Given the description of an element on the screen output the (x, y) to click on. 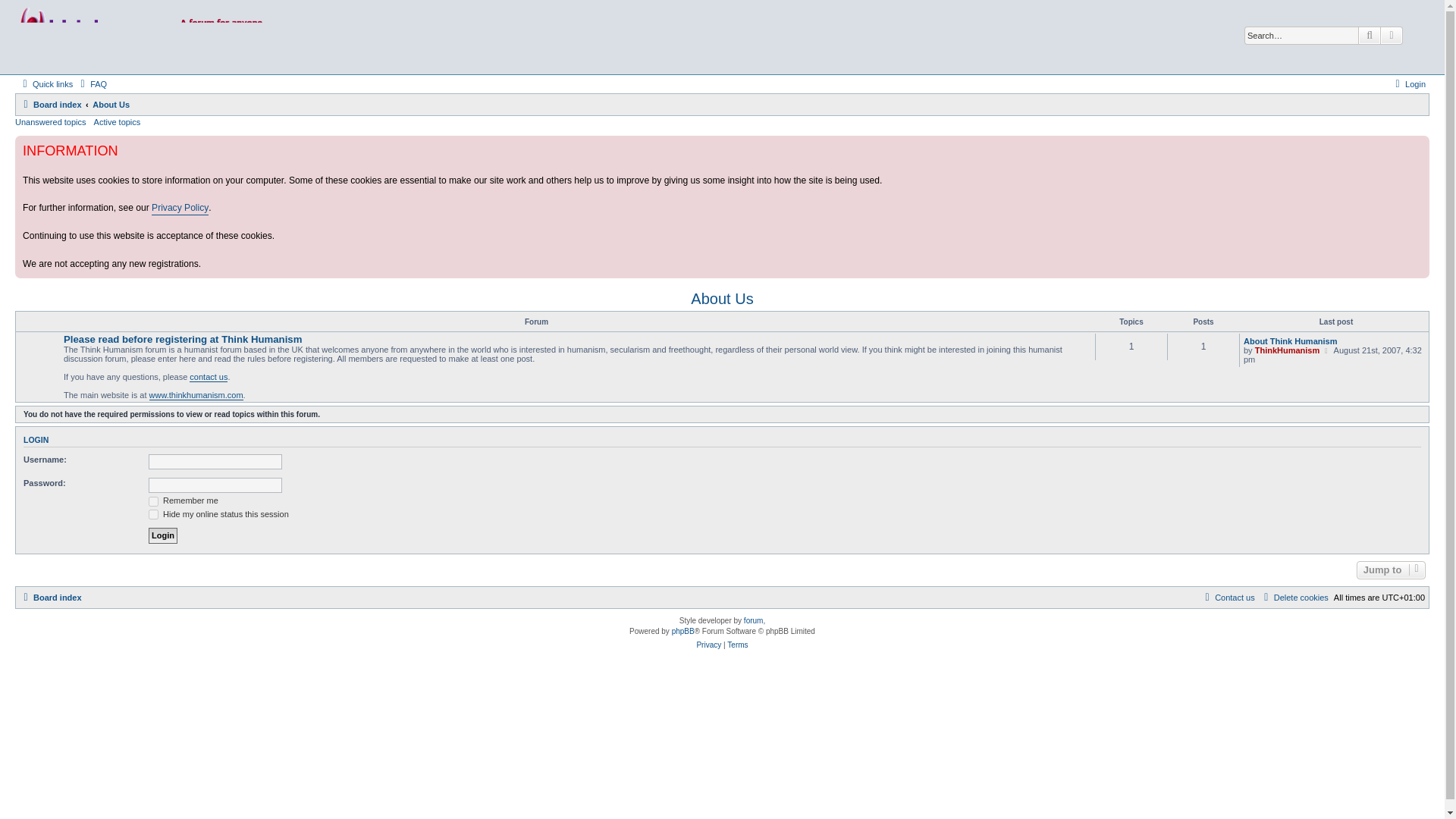
Terms (737, 644)
Jump to (1390, 570)
Advanced search (1391, 35)
About Us (721, 298)
FAQ (91, 84)
About Think Humanism (1289, 340)
Quick links (45, 84)
Login (1408, 84)
About Us (111, 104)
Privacy (707, 644)
Board index (50, 104)
LOGIN (35, 439)
No unread posts (722, 366)
ThinkHumanism (1287, 349)
Login (1408, 84)
